Given the description of an element on the screen output the (x, y) to click on. 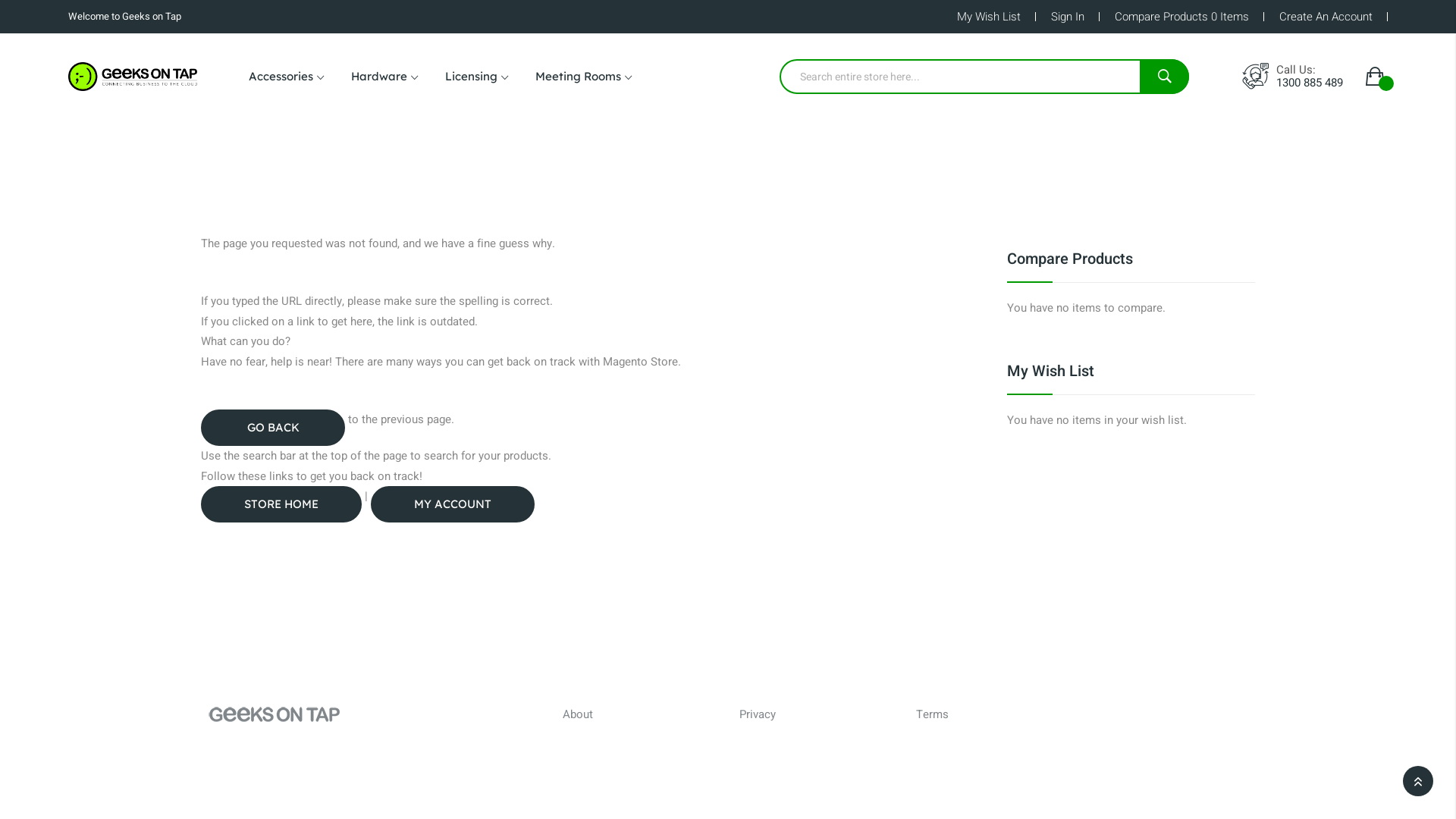
Licensing Element type: text (476, 76)
MY ACCOUNT Element type: text (452, 504)
geeks-on-tap-australia-logo Element type: hover (132, 76)
Hardware Element type: text (384, 76)
GO BACK Element type: text (272, 427)
Accessories Element type: text (285, 76)
Meeting Rooms Element type: text (583, 76)
Create An Account Element type: text (1325, 16)
Compare Products 0 Items Element type: text (1181, 16)
1300 885 489 Element type: text (1309, 82)
Search Element type: hover (1164, 76)
STORE HOME Element type: text (280, 504)
My Wish List Element type: text (988, 16)
Sign In Element type: text (1067, 16)
